Given the description of an element on the screen output the (x, y) to click on. 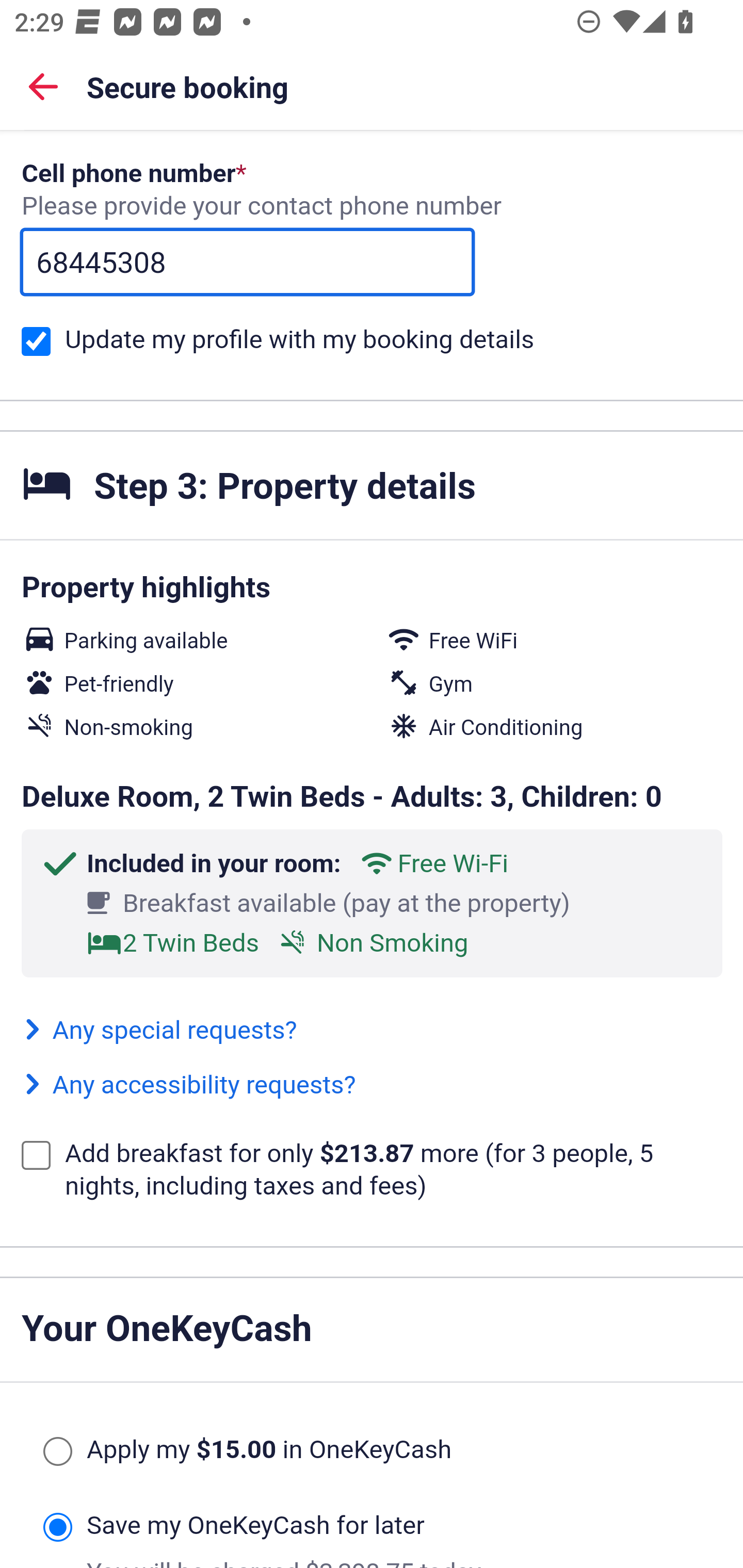
Back (43, 86)
68445308 (247, 262)
Update my profile with my booking details (36, 341)
Any special requests? (159, 1030)
Any accessibility requests? (189, 1085)
Apply my $15.00 in OneKeyCash (57, 1451)
